Given the description of an element on the screen output the (x, y) to click on. 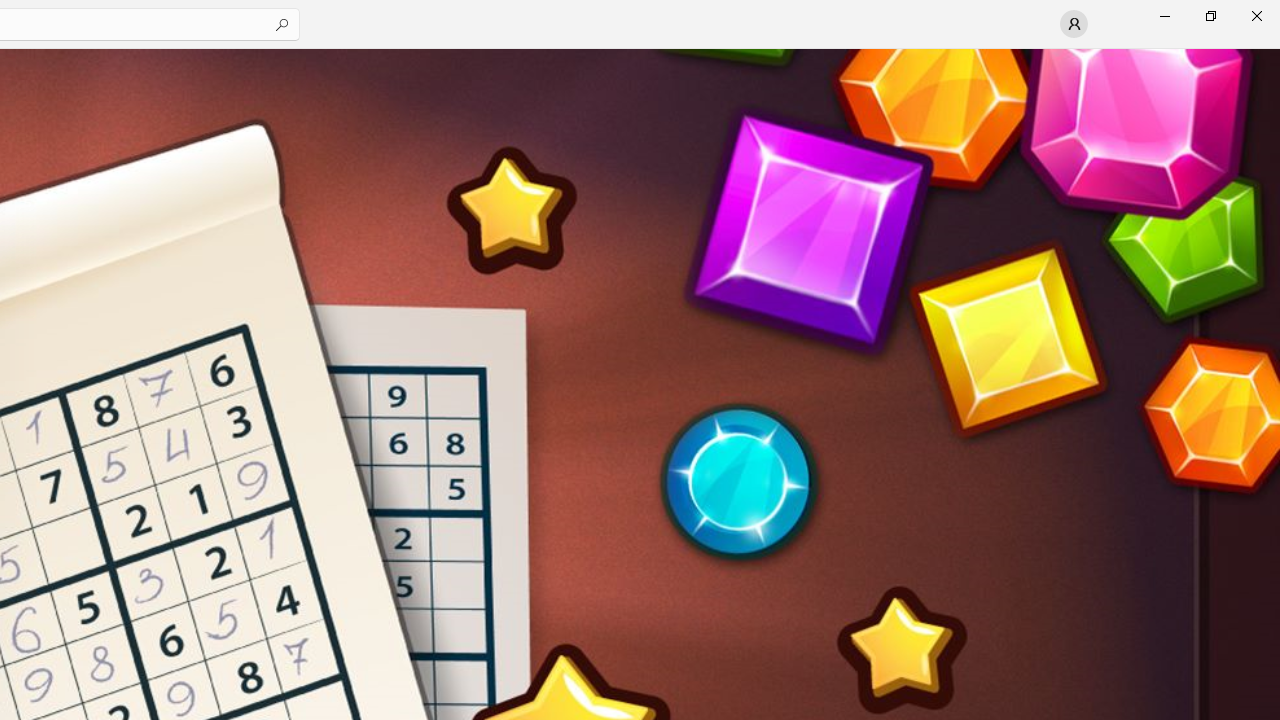
User profile (1073, 24)
Minimize Microsoft Store (1164, 15)
Close Microsoft Store (1256, 15)
Restore Microsoft Store (1210, 15)
